Given the description of an element on the screen output the (x, y) to click on. 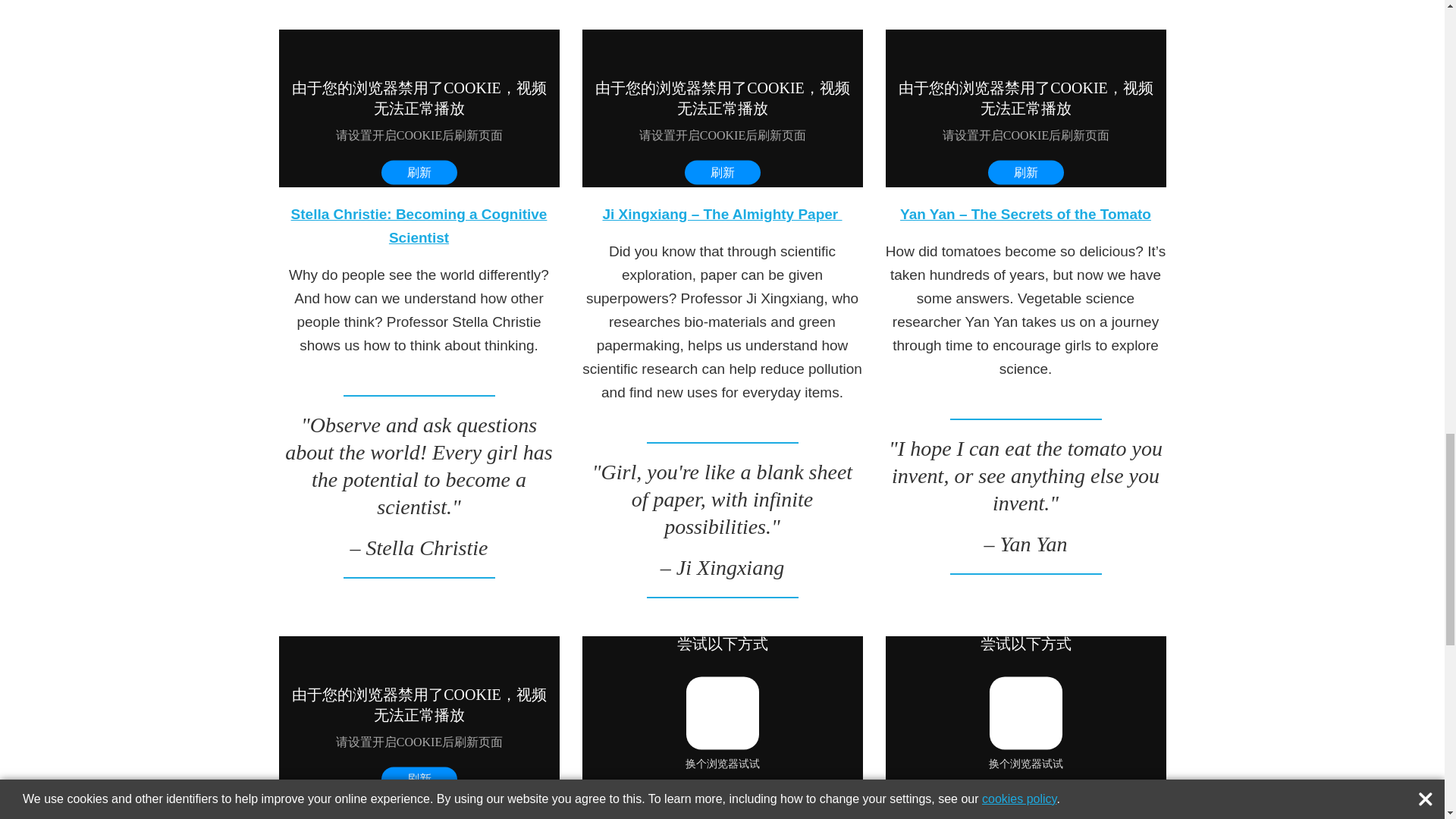
Zhou Siyi:  Exploring the Secrets of Space (418, 816)
Stella Christie: Becoming a Cognitive Scientist (419, 225)
Marie-Luce Chevalier: Mysteries Buried in the Earth (1025, 816)
Yan Yan: Championing her future - The secrets of the tomato (1025, 108)
Ji Xingxiang: Championing her future - The Almighty Paper (722, 108)
Shuai Mei: The Healing Potential of Robots (722, 816)
